Given the description of an element on the screen output the (x, y) to click on. 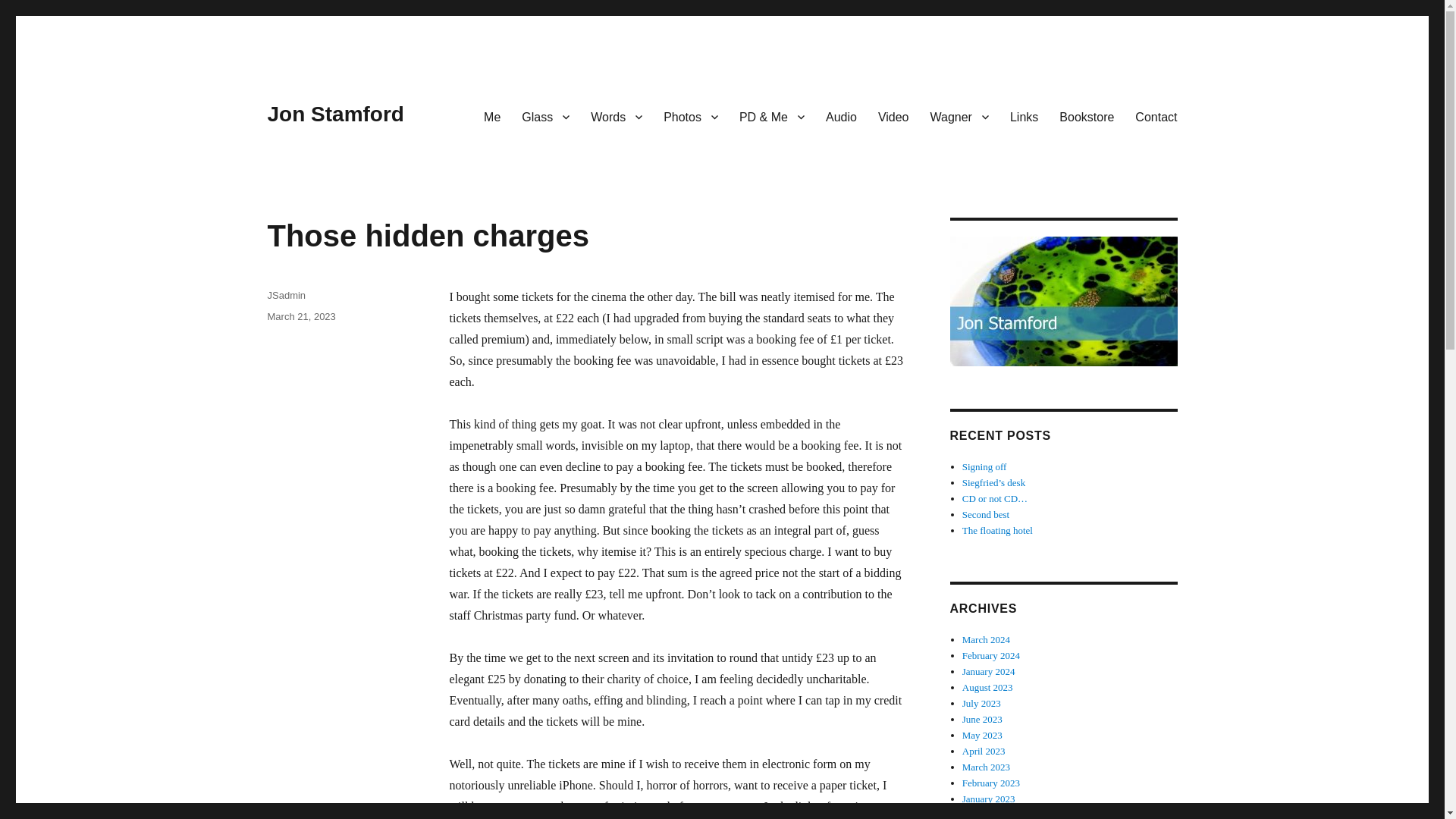
Audio (841, 116)
Words (615, 116)
Me (492, 116)
Photos (690, 116)
Video (893, 116)
Wagner (959, 116)
Jon Stamford (334, 114)
Glass (545, 116)
